Given the description of an element on the screen output the (x, y) to click on. 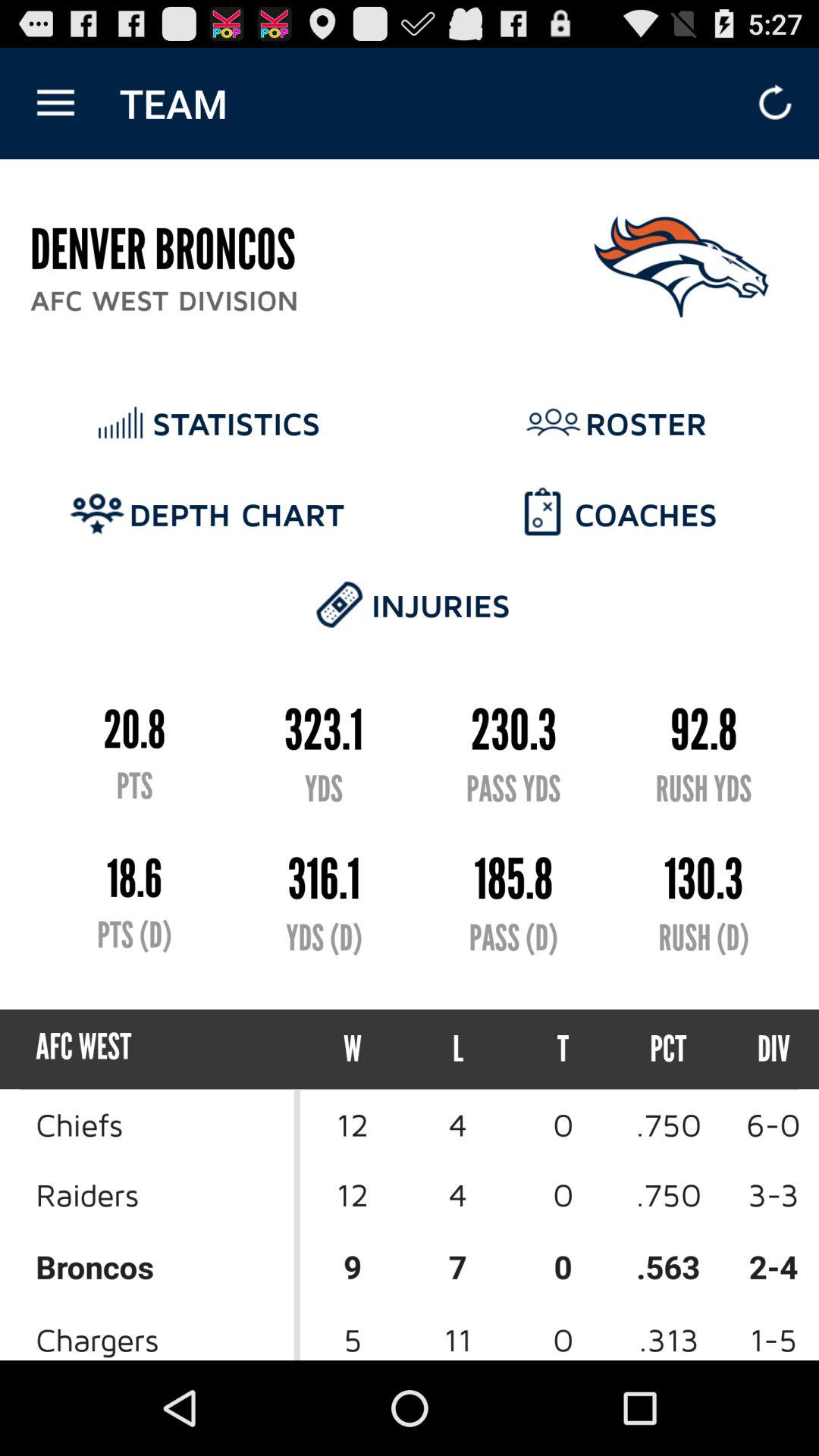
flip until the w item (352, 1049)
